Given the description of an element on the screen output the (x, y) to click on. 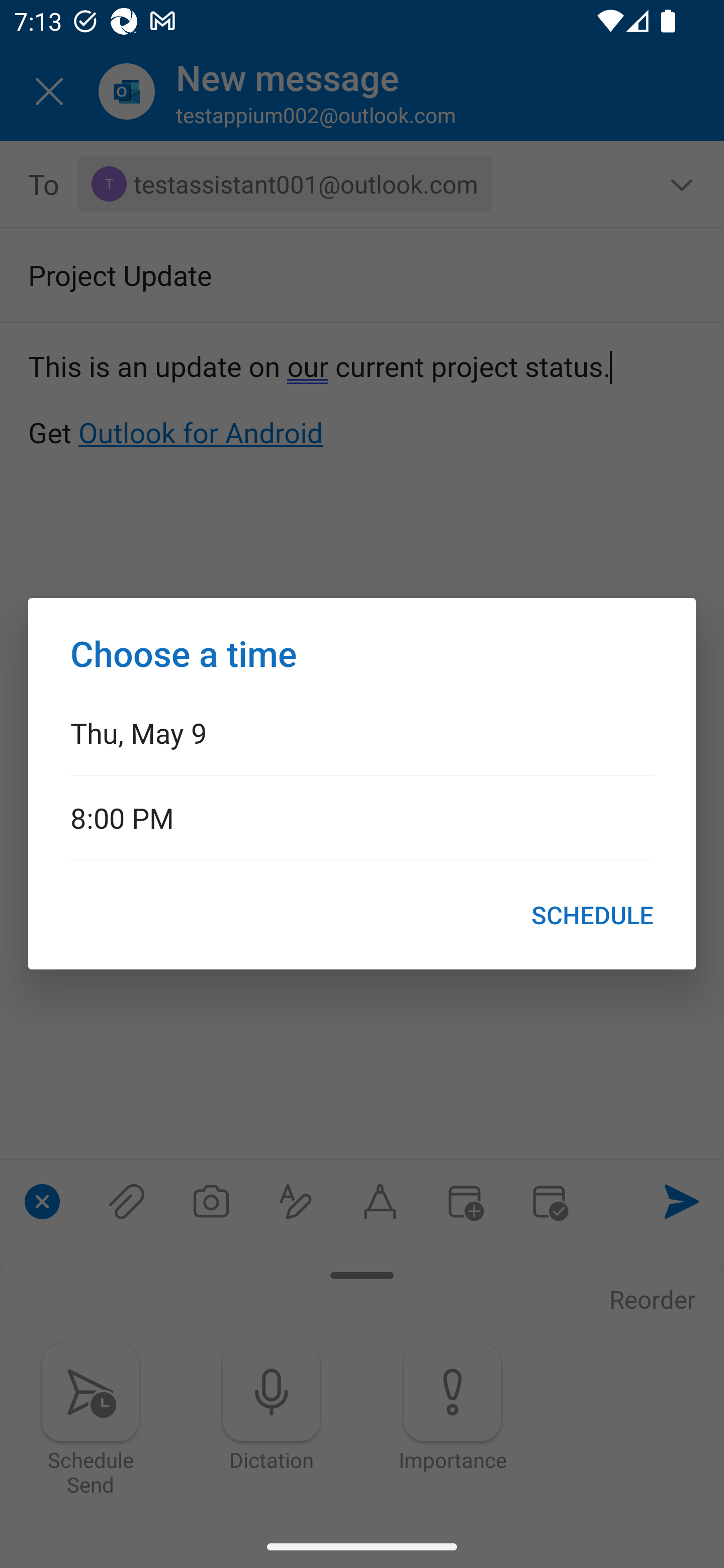
Thu, May 9 Choose date Thu, May 9 (361, 731)
8:00 PM Choose time 8:00 PM (361, 817)
SCHEDULE (592, 914)
